Given the description of an element on the screen output the (x, y) to click on. 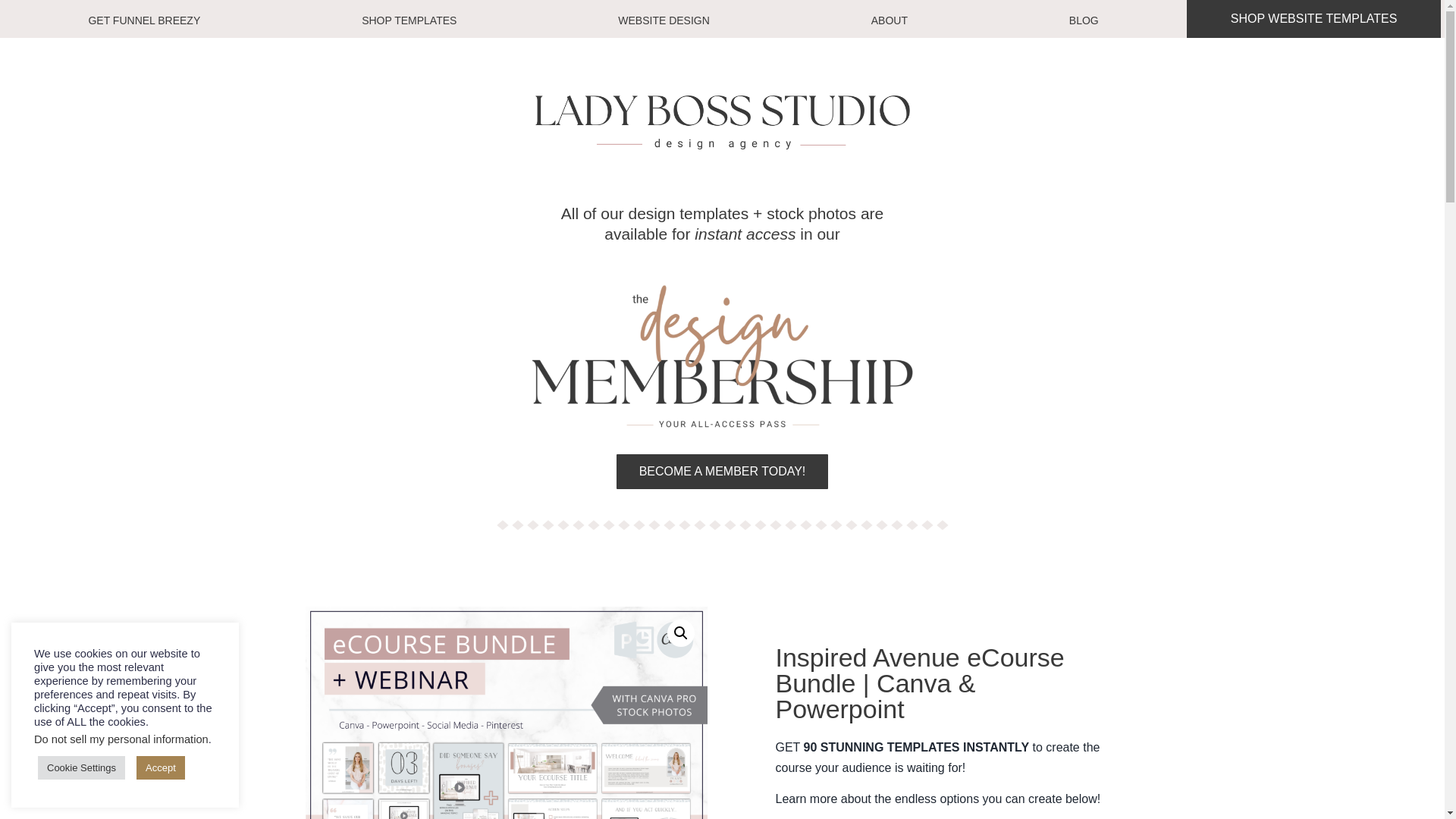
GET FUNNEL BREEZY (144, 20)
ABOUT (889, 20)
BLOG (1083, 20)
Inspired Avenue eCourse Bundle Feature Image (505, 712)
WEBSITE DESIGN (663, 20)
SHOP TEMPLATES (409, 20)
